Given the description of an element on the screen output the (x, y) to click on. 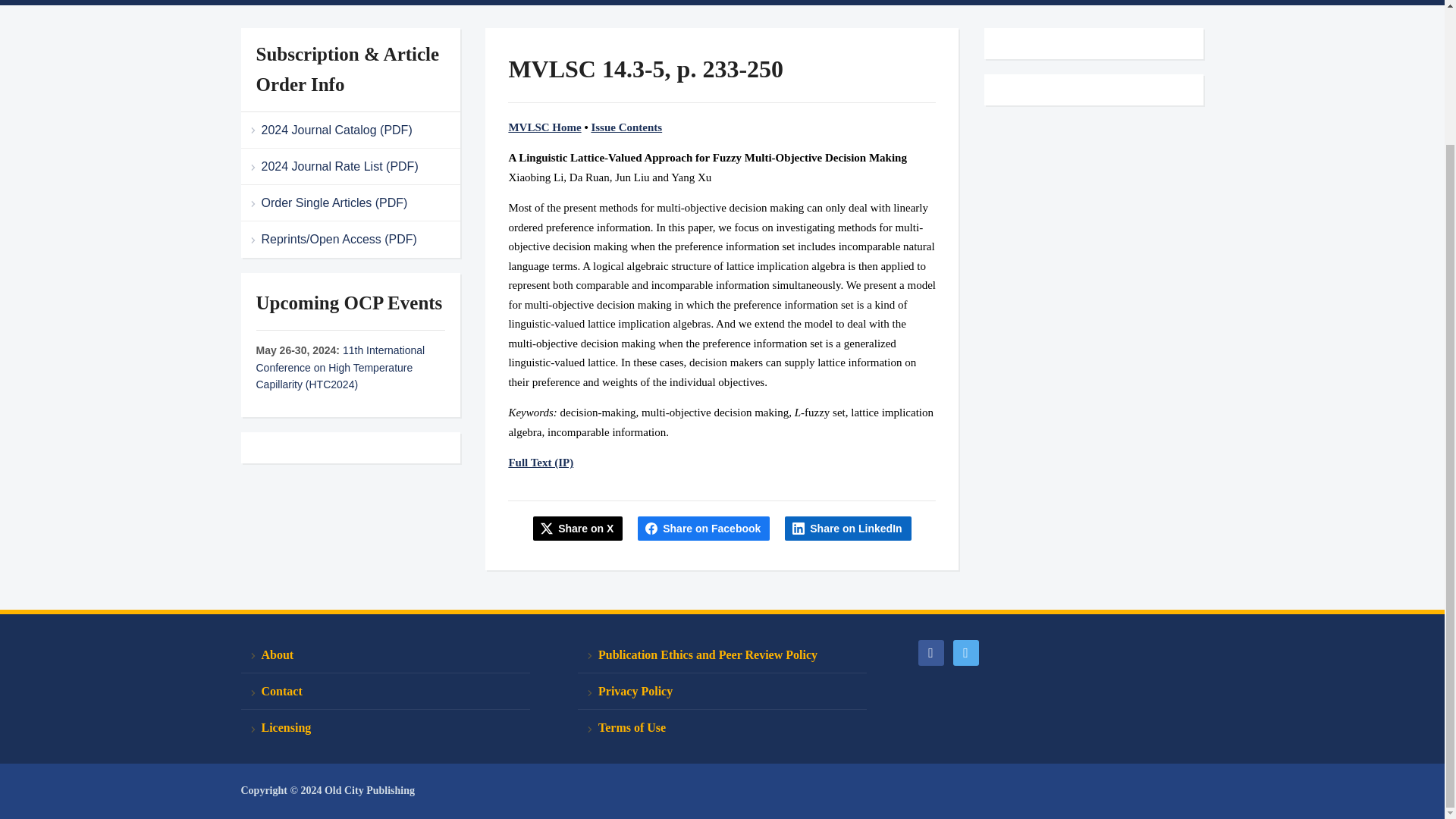
Publication Ethics and Peer Review Policy (722, 655)
Share on LinkedIn (847, 528)
Share on Facebook (703, 528)
facebook (930, 651)
Issue Contents (626, 127)
Share on LinkedIn (847, 528)
Privacy Policy (722, 691)
MVLSC Home (544, 127)
Share this on X (577, 528)
Friend me on Facebook (930, 651)
Terms of Use (722, 727)
Share on X (577, 528)
Follow Me (965, 651)
Share this on Facebook (703, 528)
Licensing (385, 727)
